Given the description of an element on the screen output the (x, y) to click on. 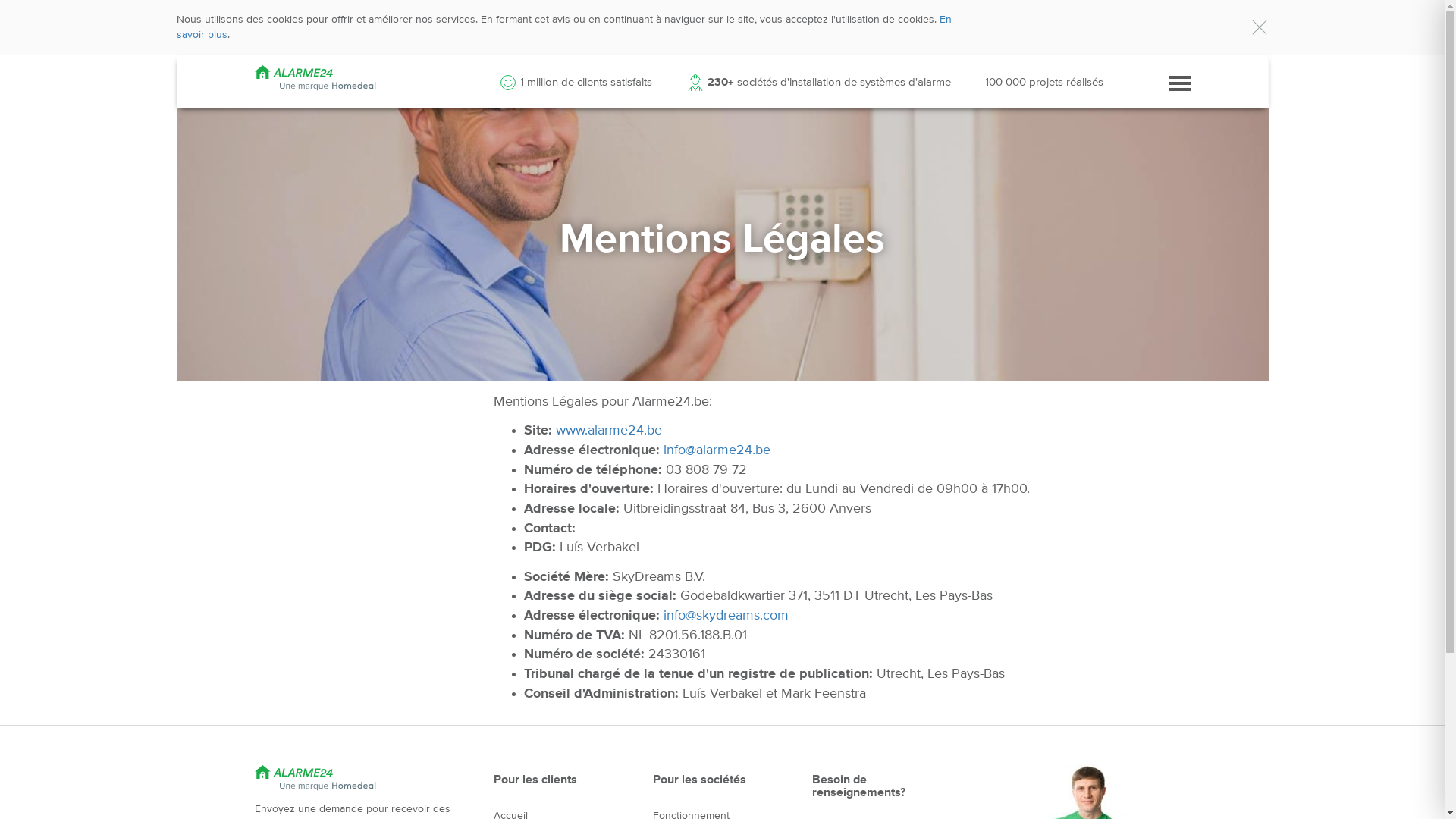
www.alarme24.be Element type: text (608, 430)
En savoir plus Element type: text (562, 27)
info@alarme24.be Element type: text (715, 450)
Fermer Element type: hover (1258, 27)
info@skydreams.com Element type: text (724, 615)
